Given the description of an element on the screen output the (x, y) to click on. 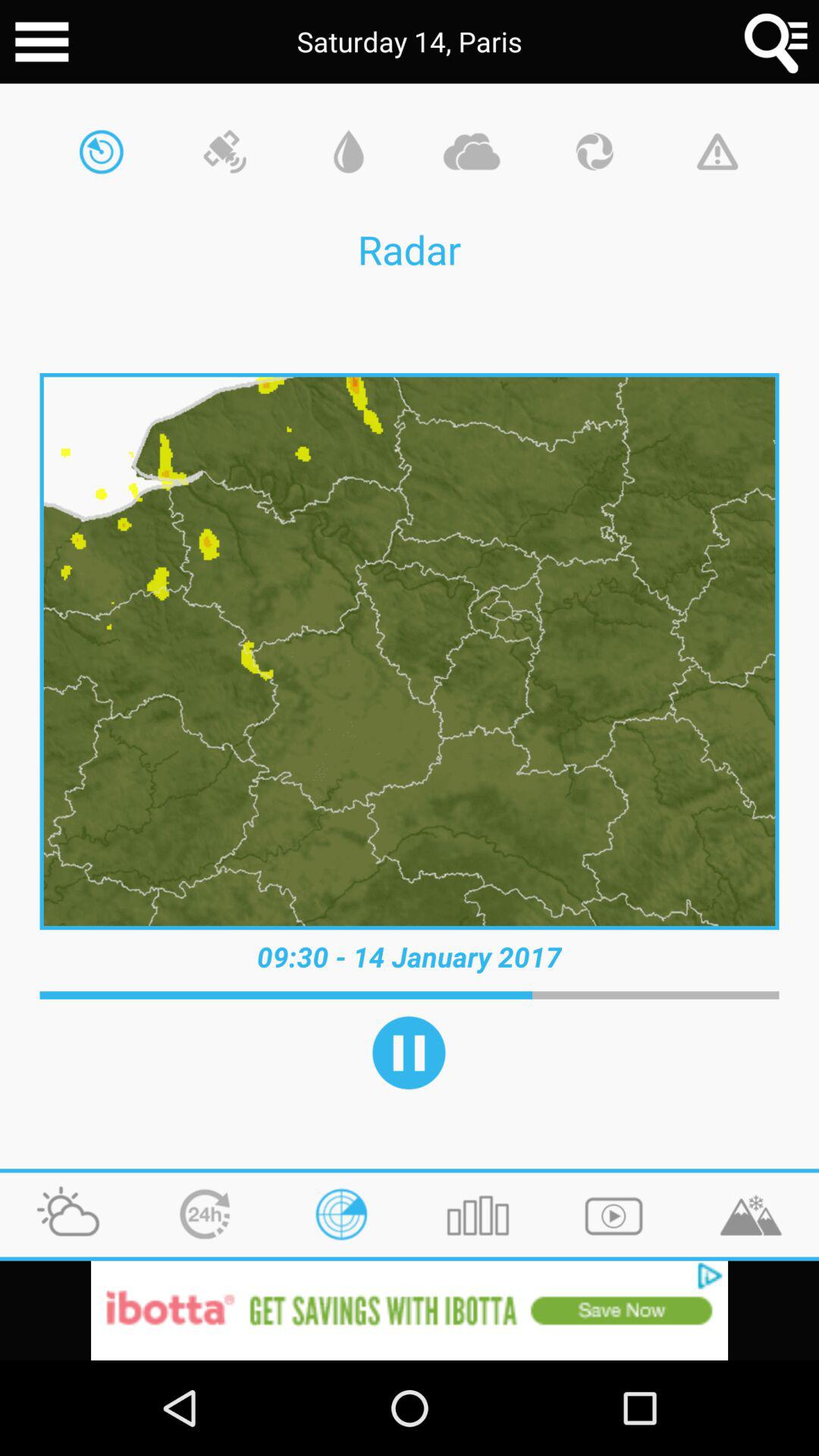
main menu (41, 41)
